Given the description of an element on the screen output the (x, y) to click on. 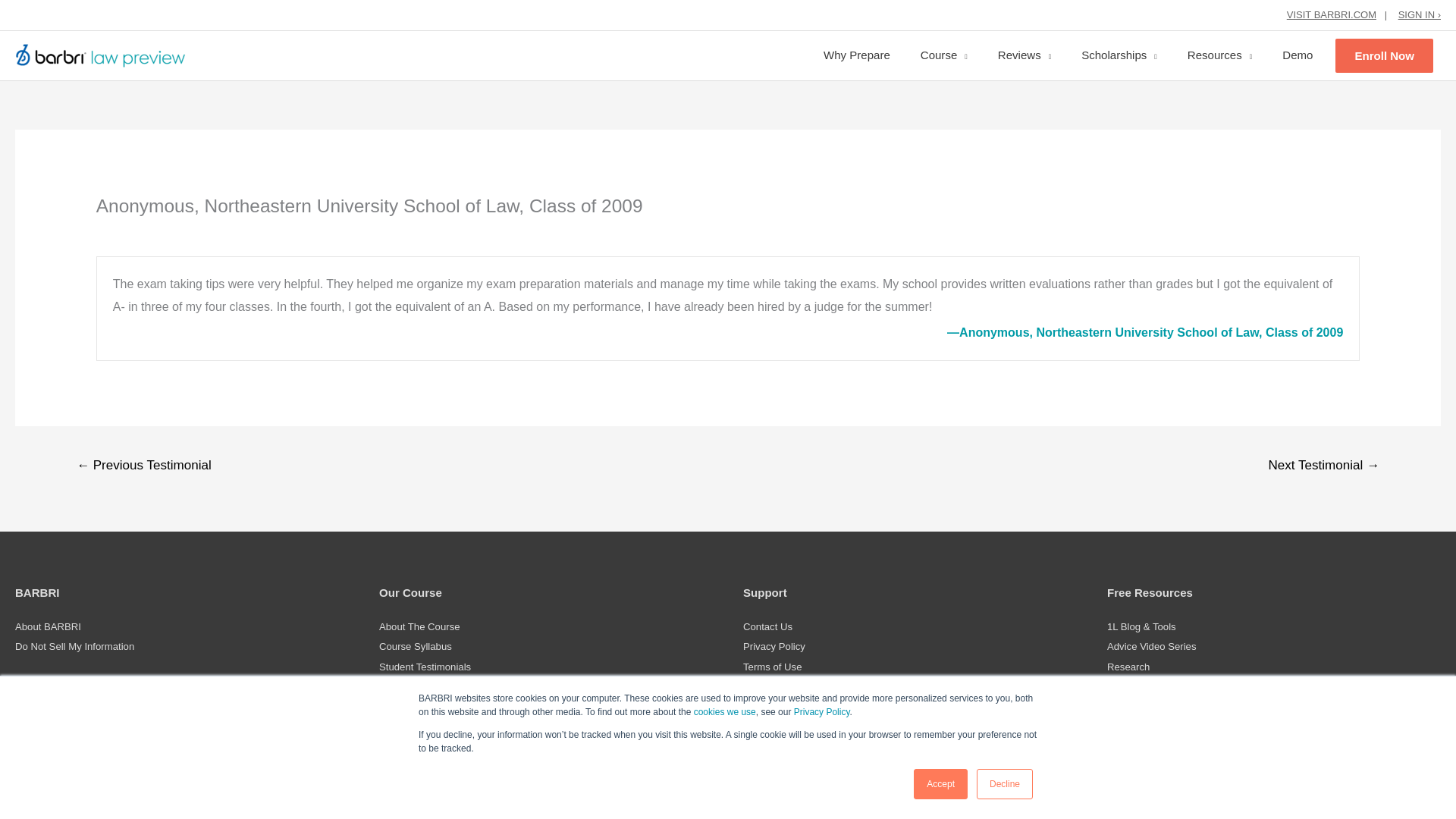
Anonymous, New York University School of Law, Class of 2008 (143, 467)
Demo (1296, 55)
Why Prepare (856, 55)
VISIT BARBRI.COM (1331, 14)
Reviews (1023, 55)
cookies we use (724, 711)
Privacy Policy (821, 711)
Decline (1004, 784)
Course (943, 55)
